Given the description of an element on the screen output the (x, y) to click on. 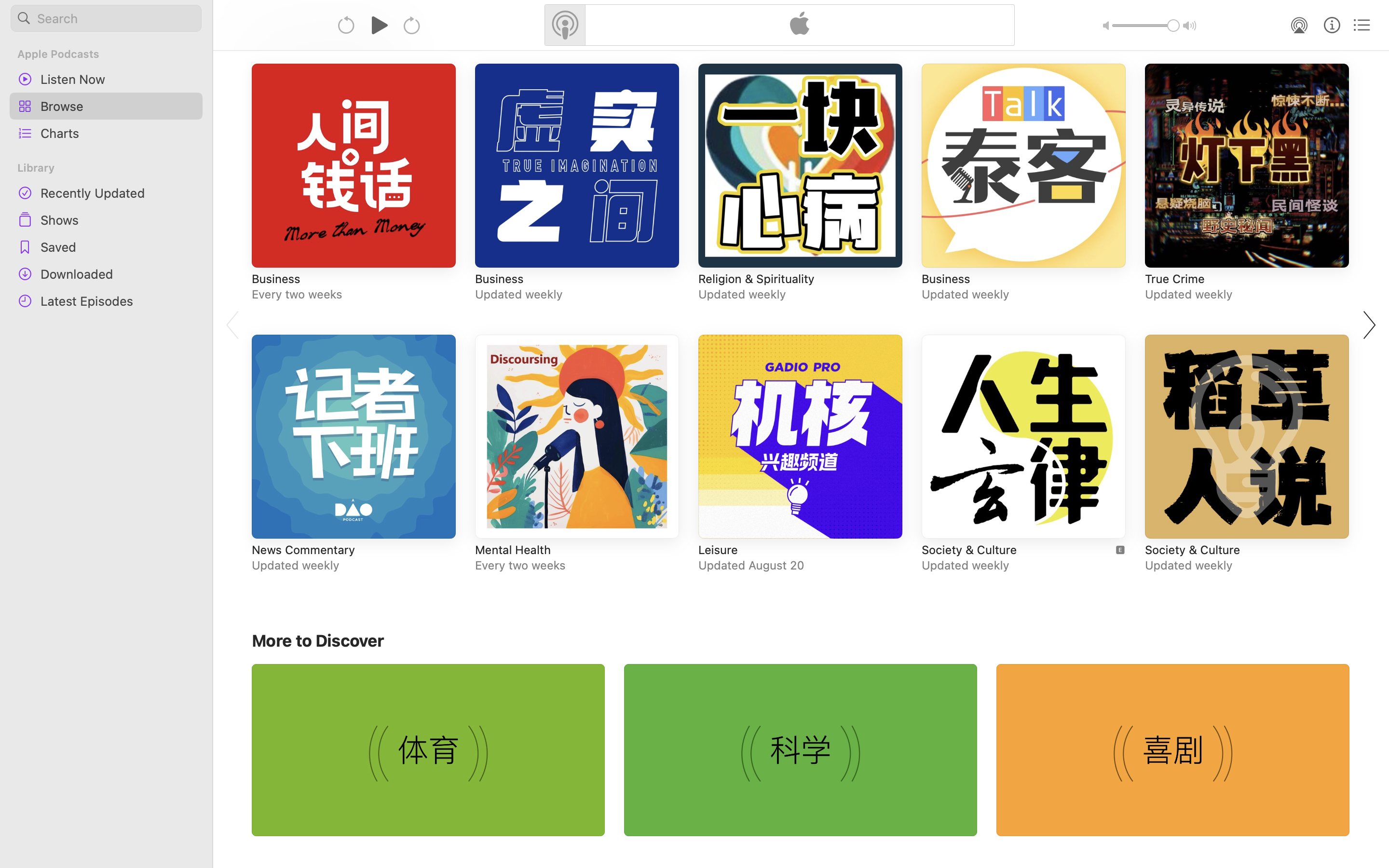
1.0 Element type: AXSlider (1145, 25)
